Given the description of an element on the screen output the (x, y) to click on. 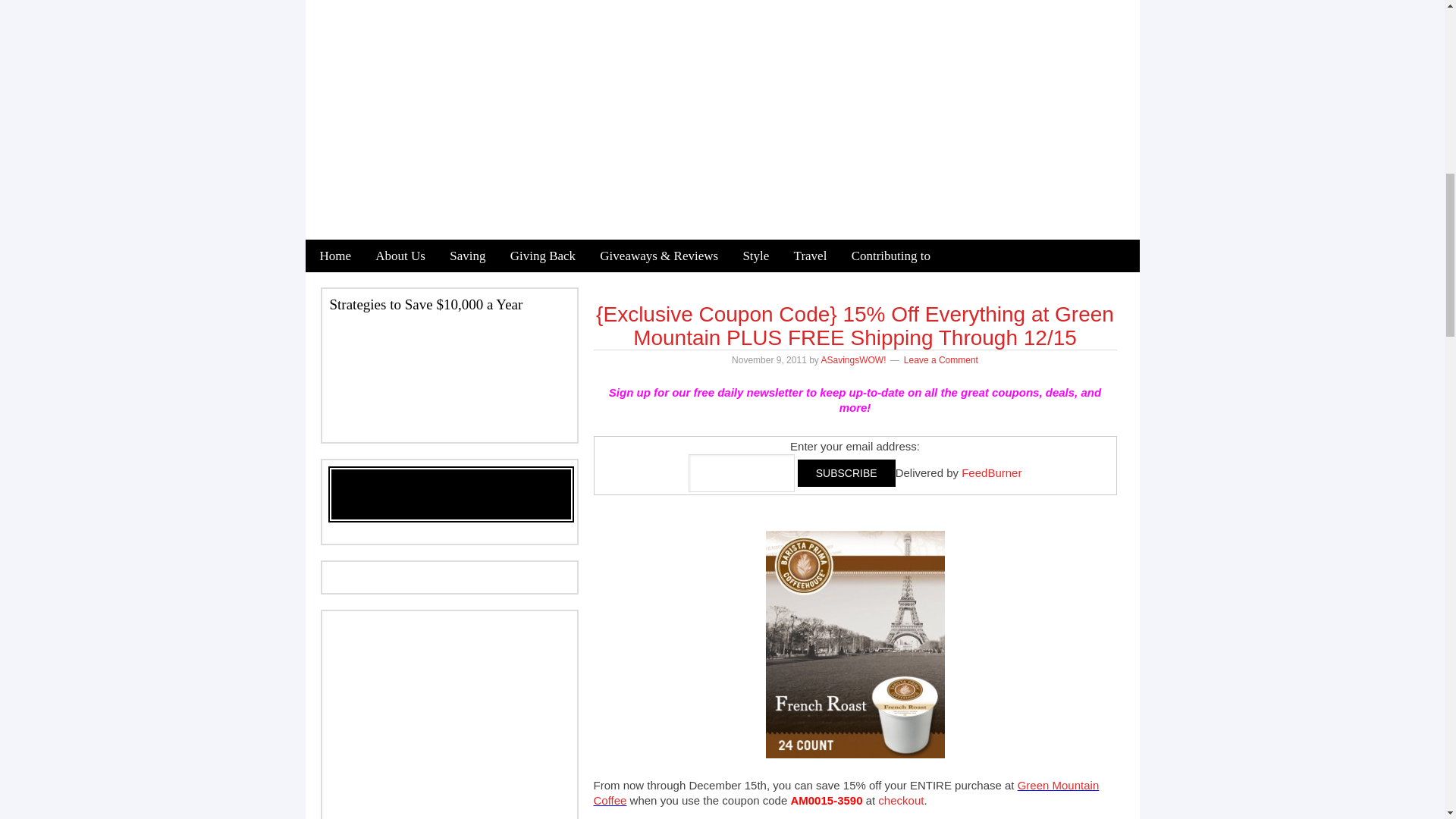
Subscribe (846, 472)
Green Mountain Coffee (900, 799)
Green Mountain Coffee (845, 792)
